Given the description of an element on the screen output the (x, y) to click on. 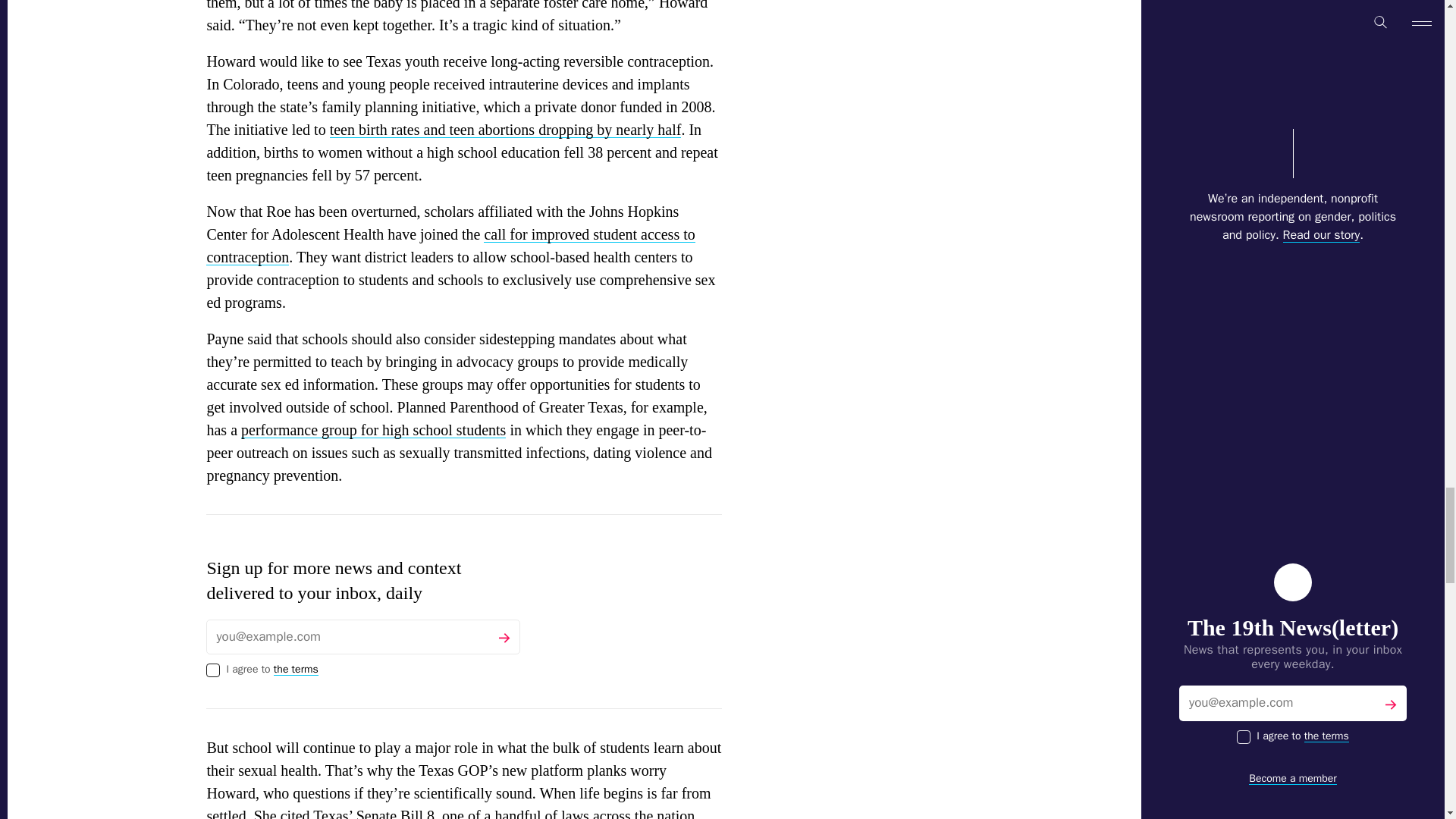
on (212, 670)
